Given the description of an element on the screen output the (x, y) to click on. 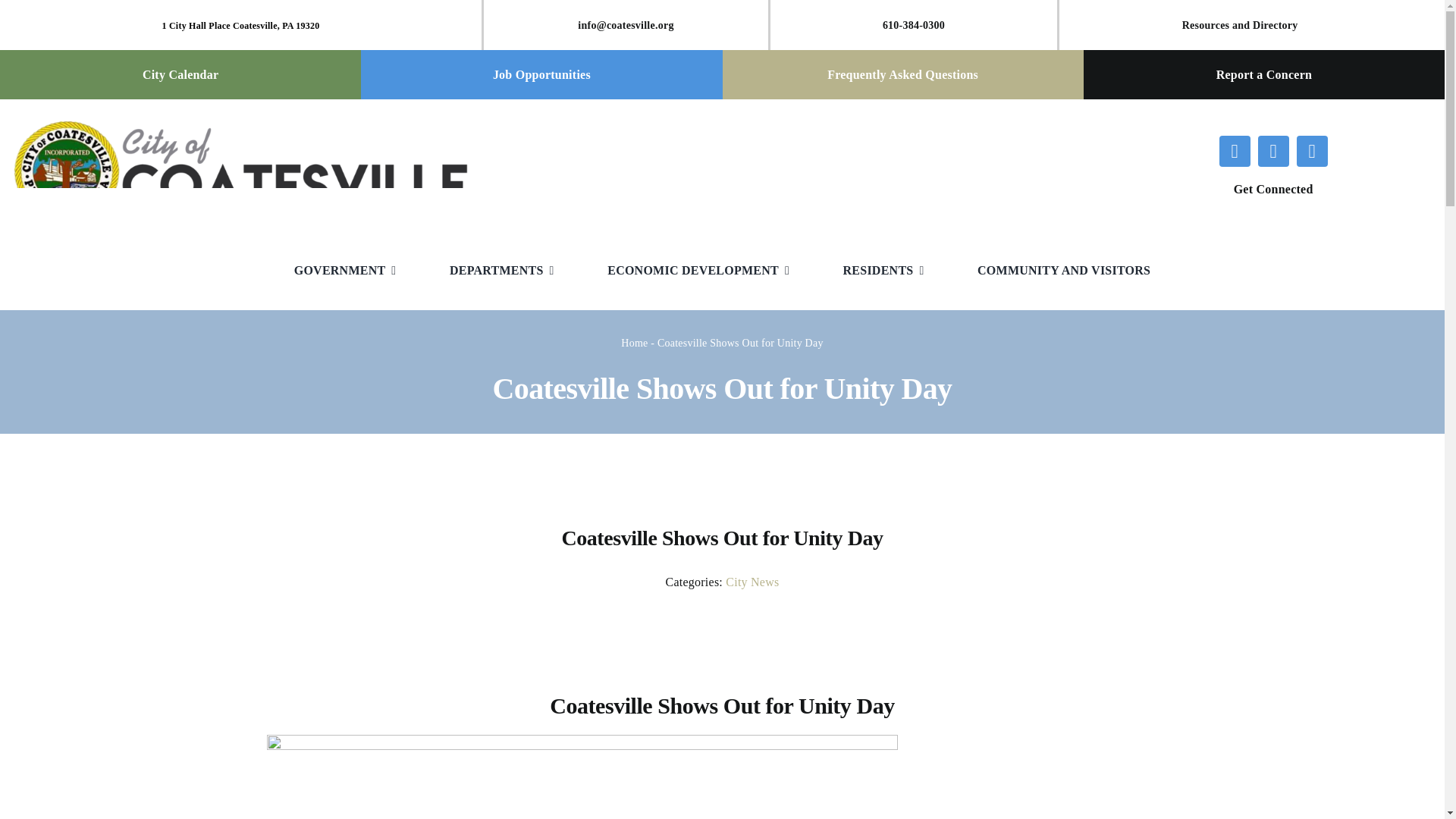
YouTube (1312, 151)
Resources and Directory (1240, 25)
Frequently Asked Questions (902, 74)
Report a Concern (1263, 74)
Facebook (1235, 151)
LinkedIn (1272, 151)
610-384-0300 (913, 25)
